Given the description of an element on the screen output the (x, y) to click on. 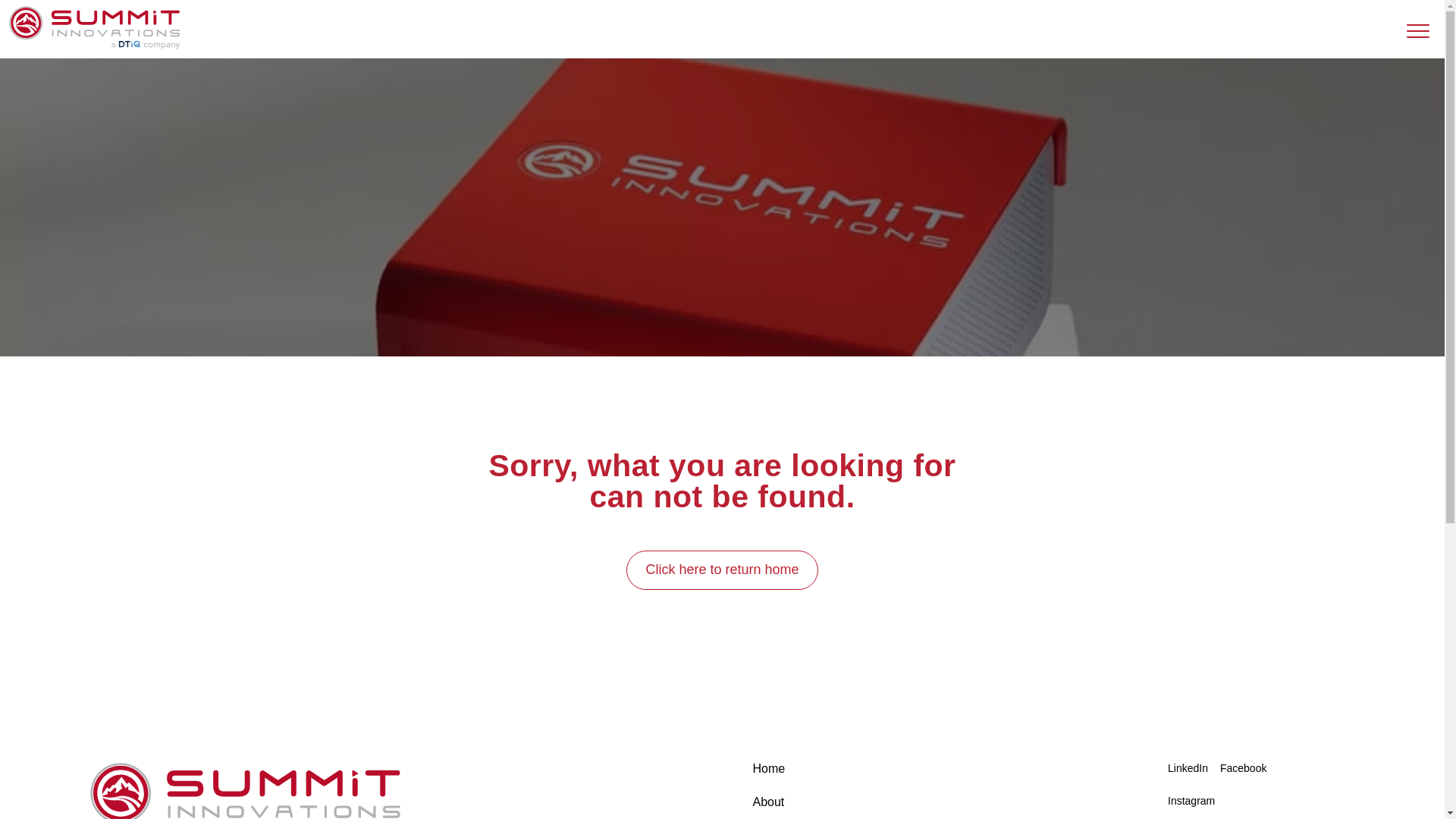
Return home (94, 46)
